Given the description of an element on the screen output the (x, y) to click on. 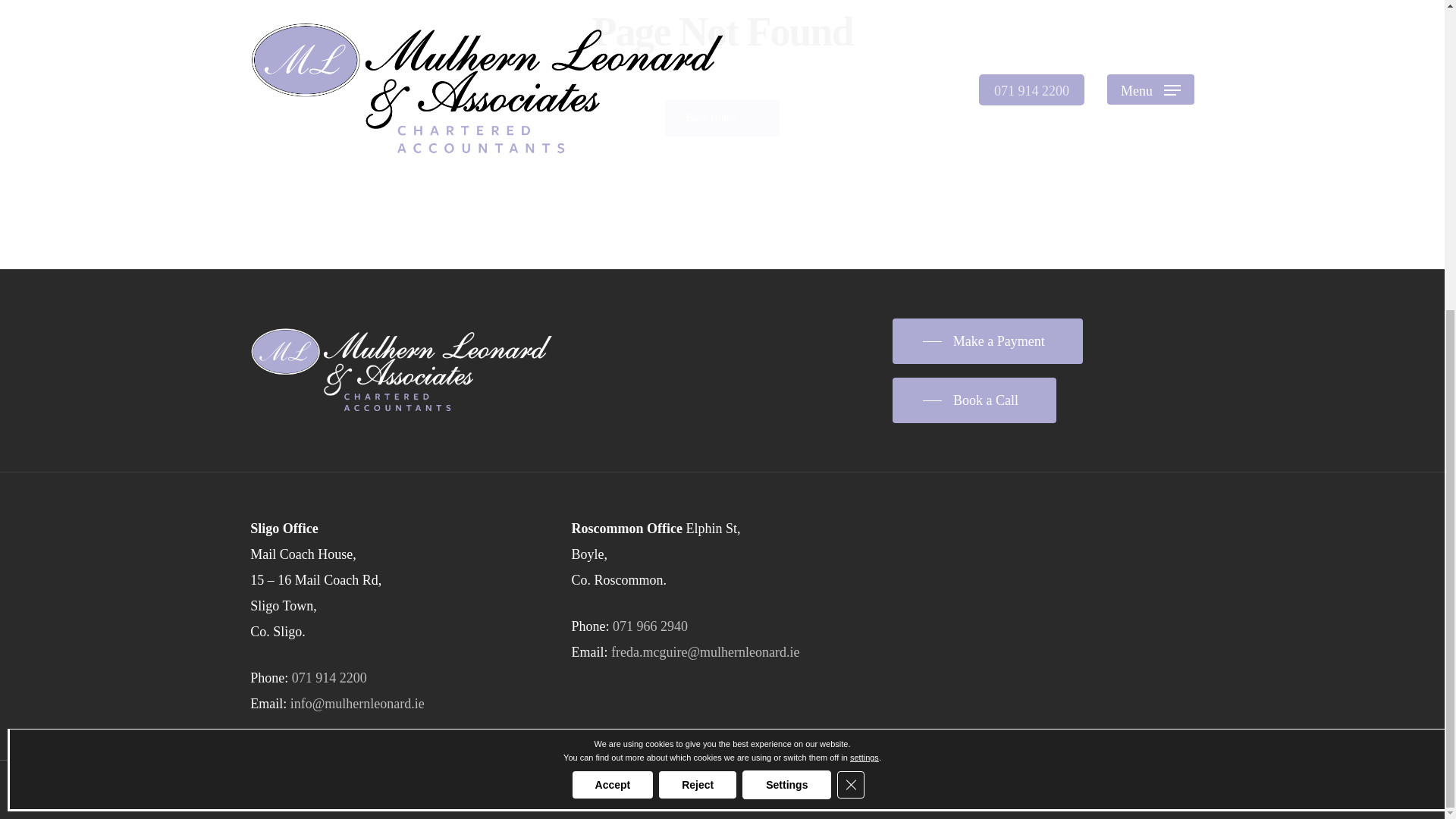
Terms (438, 790)
071 914 2200 (329, 677)
Splash (547, 790)
Cookies (488, 790)
071 966 2940 (649, 626)
Book a Call (974, 400)
Privacy (390, 790)
Back Home (721, 117)
Make a Payment (987, 340)
